Given the description of an element on the screen output the (x, y) to click on. 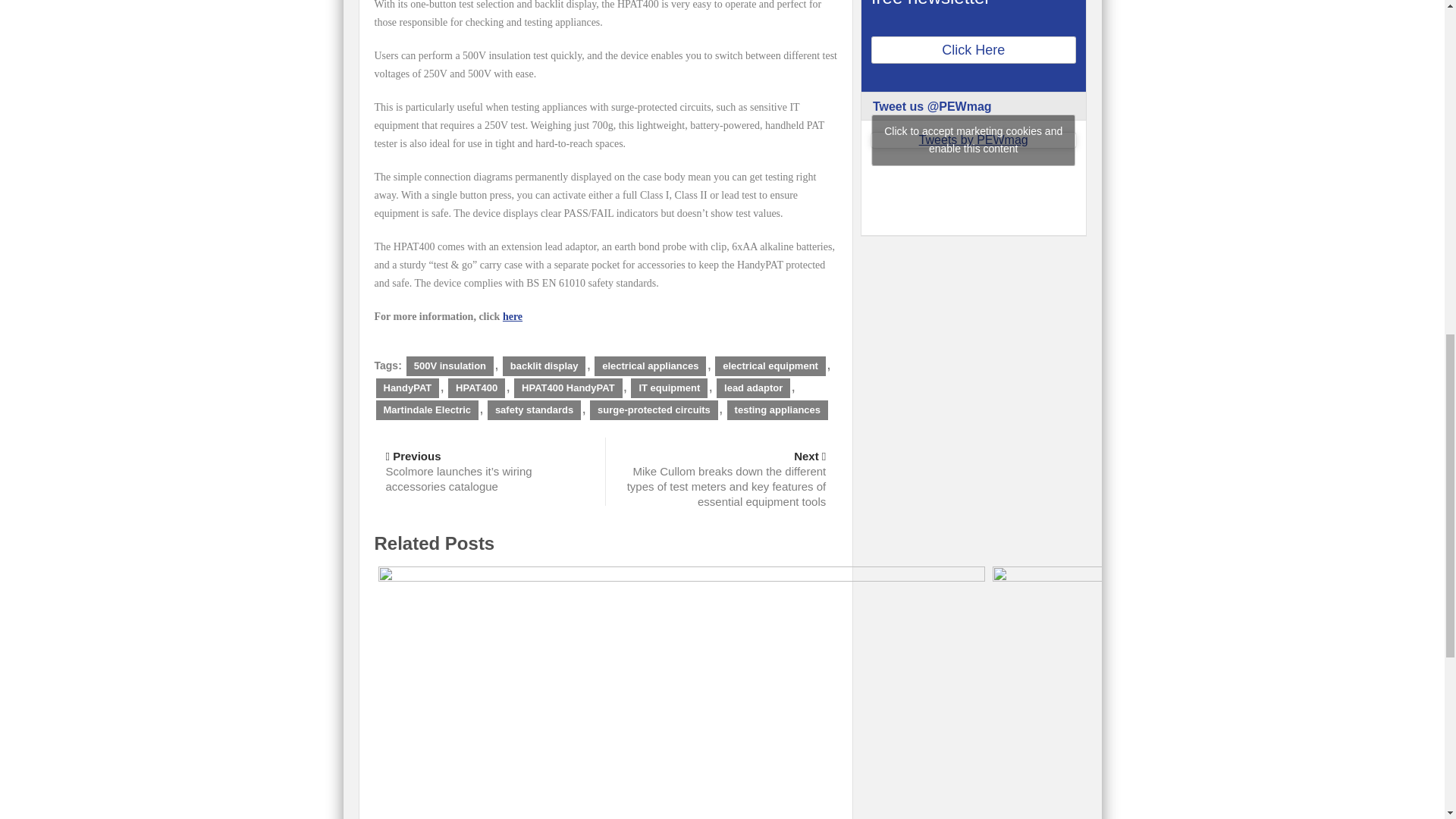
HPAT400 HandyPAT (568, 388)
backlit display (544, 365)
HandyPAT (407, 388)
500V insulation (449, 365)
electrical equipment (769, 365)
HPAT400 (476, 388)
electrical appliances (650, 365)
IT equipment (668, 388)
here (512, 316)
